Given the description of an element on the screen output the (x, y) to click on. 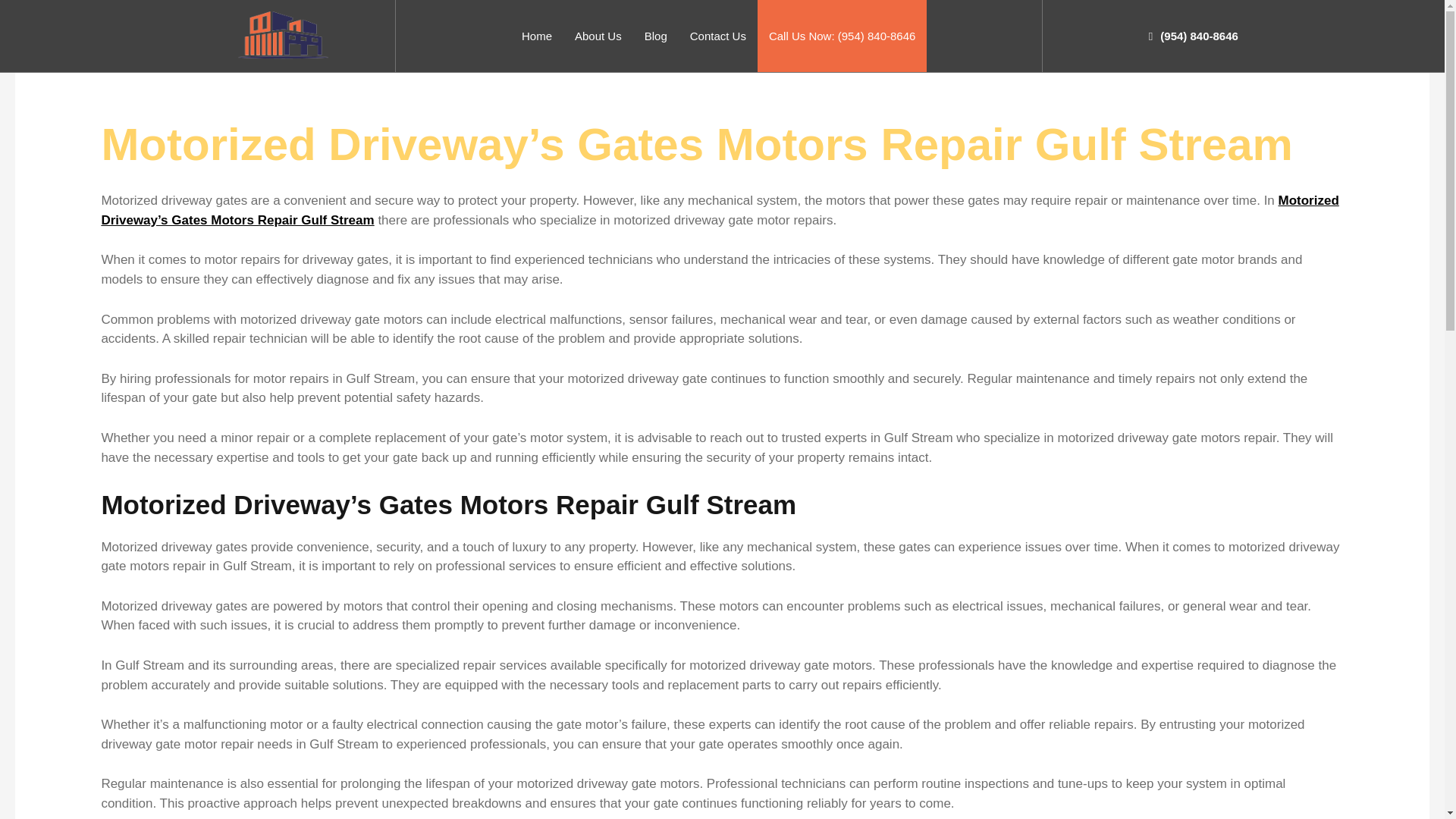
garage door repair aurora (284, 35)
About Us (598, 36)
Contact Us (717, 36)
